Given the description of an element on the screen output the (x, y) to click on. 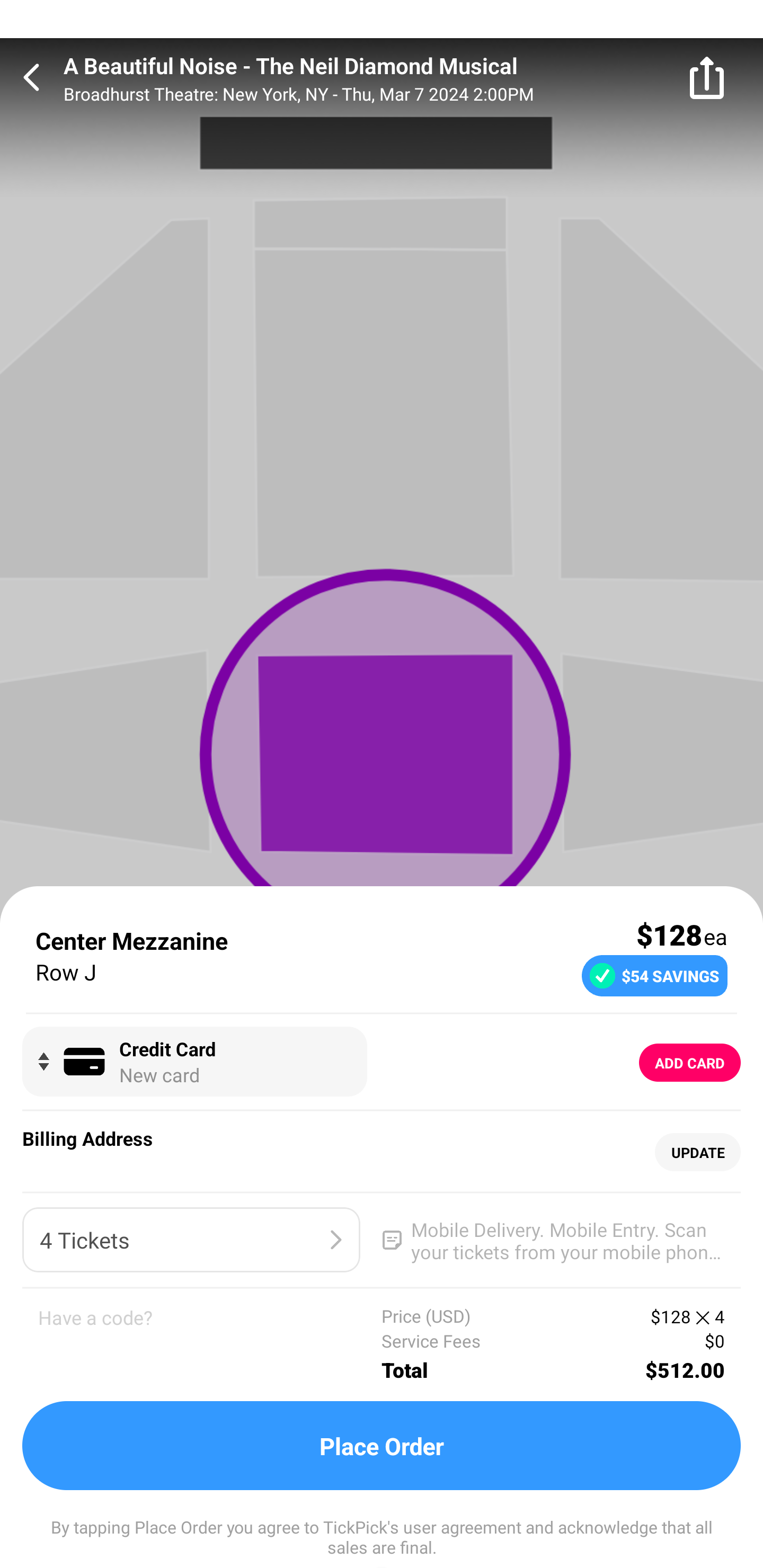
$54 SAVINGS (654, 974)
Credit Card, New card Credit Card New card (194, 1061)
ADD CARD (689, 1062)
UPDATE (697, 1152)
4 Tickets (191, 1239)
Have a code? (209, 1344)
Place Order (381, 1445)
